Given the description of an element on the screen output the (x, y) to click on. 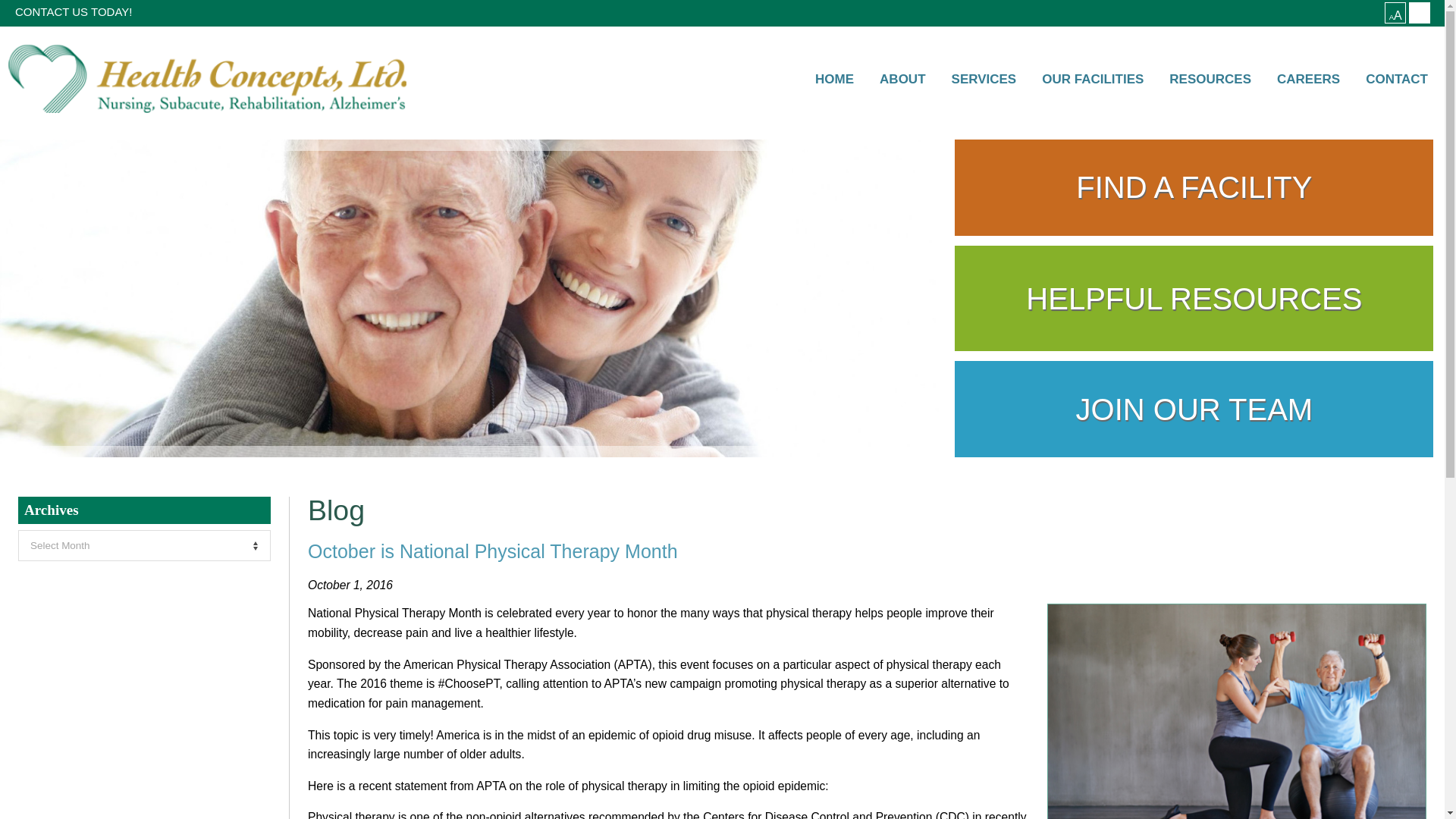
FIND A FACILITY (1193, 187)
CAREERS (1307, 79)
HOME (834, 79)
SERVICES (984, 79)
RESOURCES (1209, 79)
OUR FACILITIES (1092, 79)
CONTACT (1396, 79)
JOIN OUR TEAM (1193, 409)
High Contrast: White Background with Black Text (1419, 12)
ABOUT (901, 79)
HELPFUL RESOURCES (1193, 298)
Search (1361, 12)
Search (1361, 12)
CONTACT US TODAY! (73, 12)
